Given the description of an element on the screen output the (x, y) to click on. 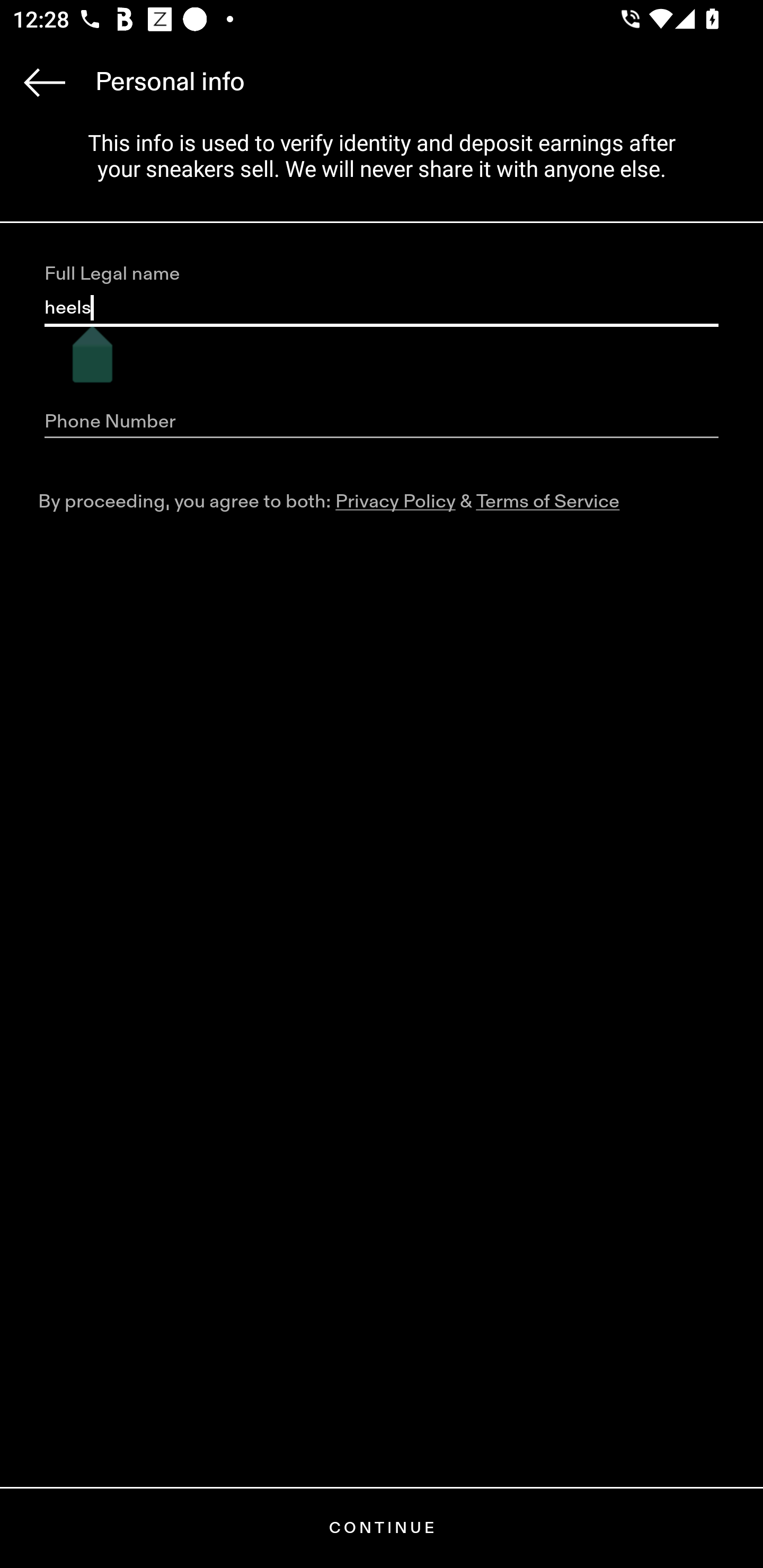
Navigate up (44, 82)
heels (381, 308)
Phone Number (381, 422)
CONTINUE (381, 1528)
